Given the description of an element on the screen output the (x, y) to click on. 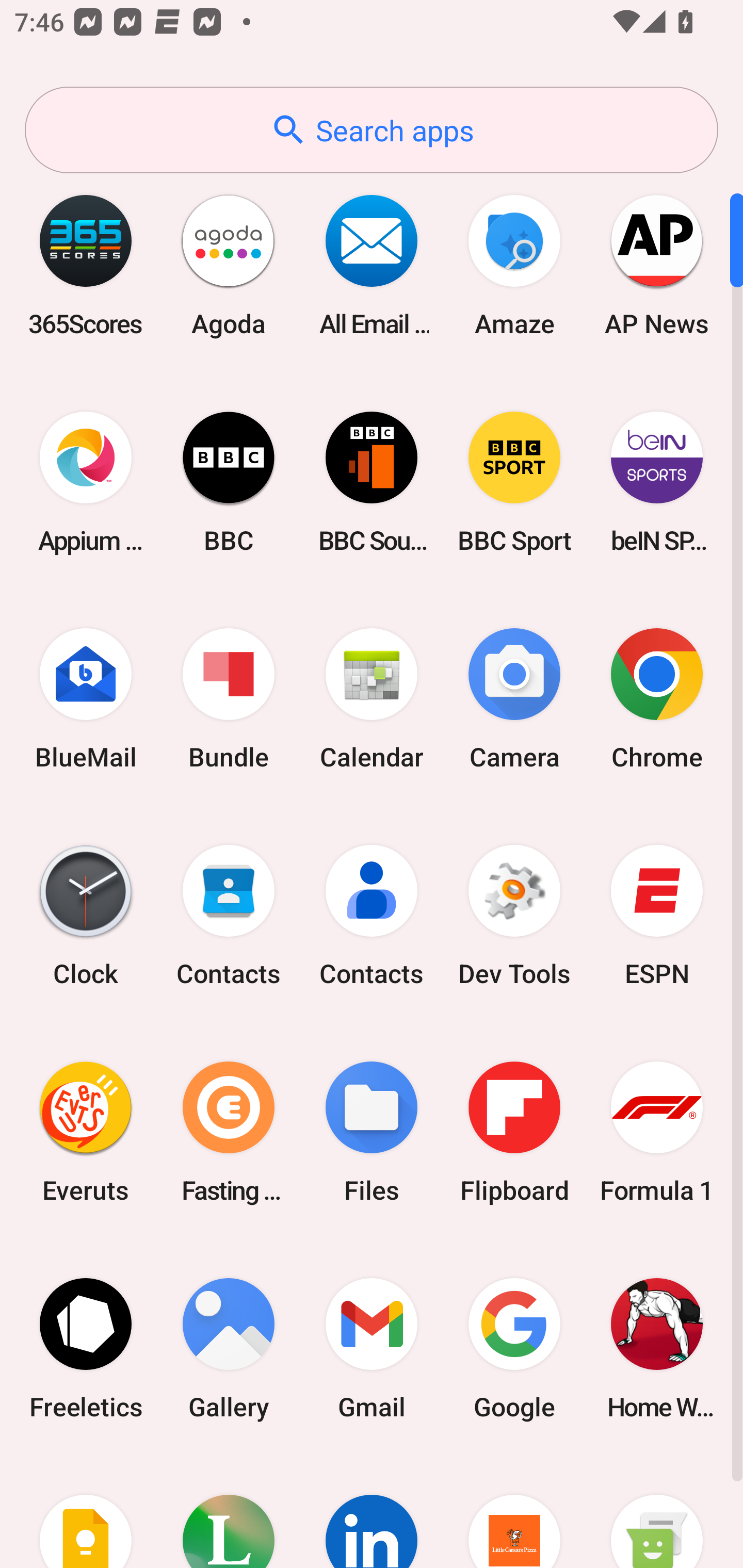
  Search apps (371, 130)
365Scores (85, 264)
Agoda (228, 264)
All Email Connect (371, 264)
Amaze (514, 264)
AP News (656, 264)
Appium Settings (85, 482)
BBC (228, 482)
BBC Sounds (371, 482)
BBC Sport (514, 482)
beIN SPORTS (656, 482)
BlueMail (85, 699)
Bundle (228, 699)
Calendar (371, 699)
Camera (514, 699)
Chrome (656, 699)
Clock (85, 915)
Contacts (228, 915)
Contacts (371, 915)
Dev Tools (514, 915)
ESPN (656, 915)
Everuts (85, 1131)
Fasting Coach (228, 1131)
Files (371, 1131)
Flipboard (514, 1131)
Formula 1 (656, 1131)
Freeletics (85, 1348)
Gallery (228, 1348)
Gmail (371, 1348)
Google (514, 1348)
Home Workout (656, 1348)
Keep Notes (85, 1512)
Lifesum (228, 1512)
LinkedIn (371, 1512)
Little Caesars Pizza (514, 1512)
Messaging (656, 1512)
